Given the description of an element on the screen output the (x, y) to click on. 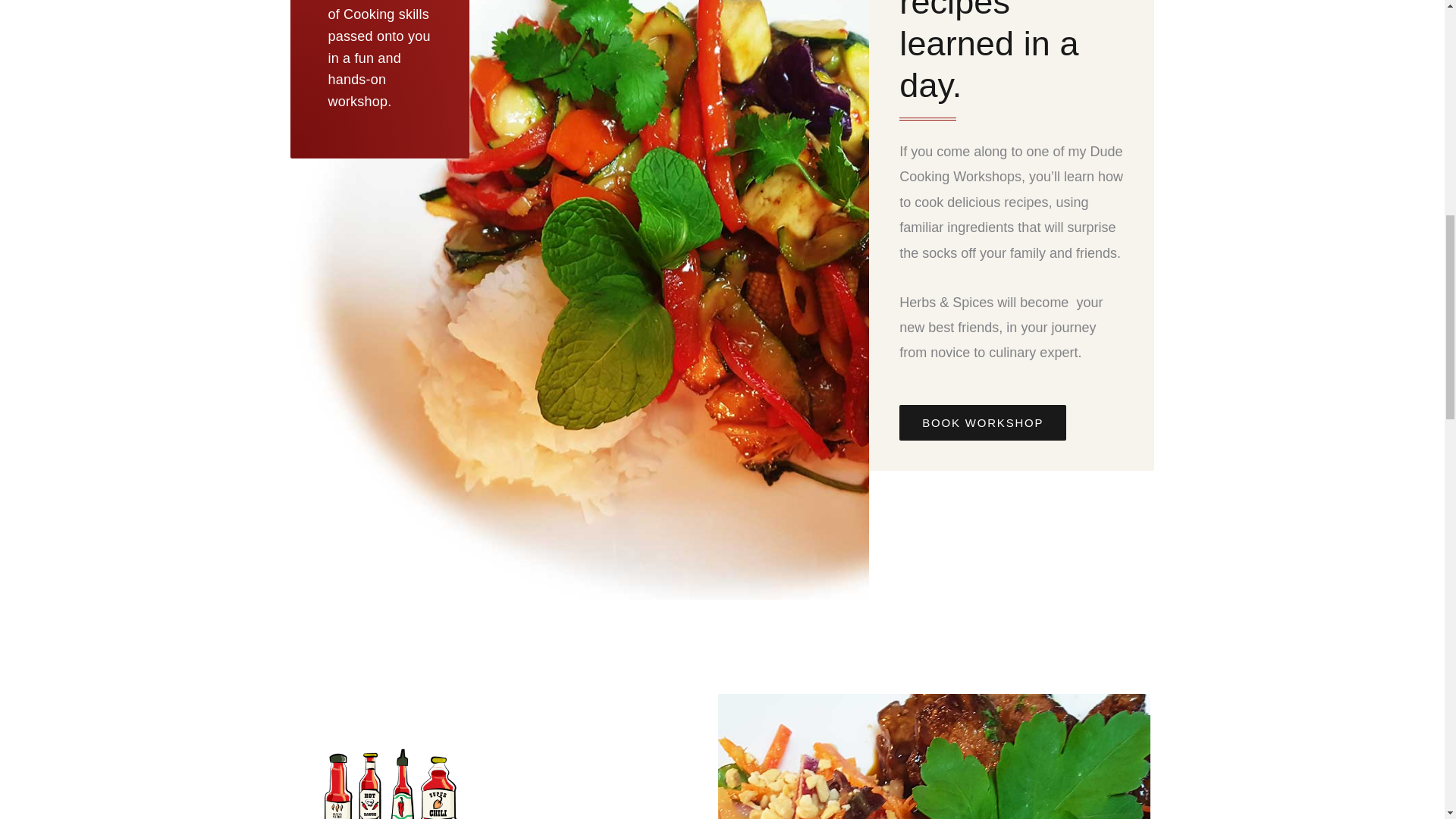
BOOK WORKSHOP (982, 422)
